Given the description of an element on the screen output the (x, y) to click on. 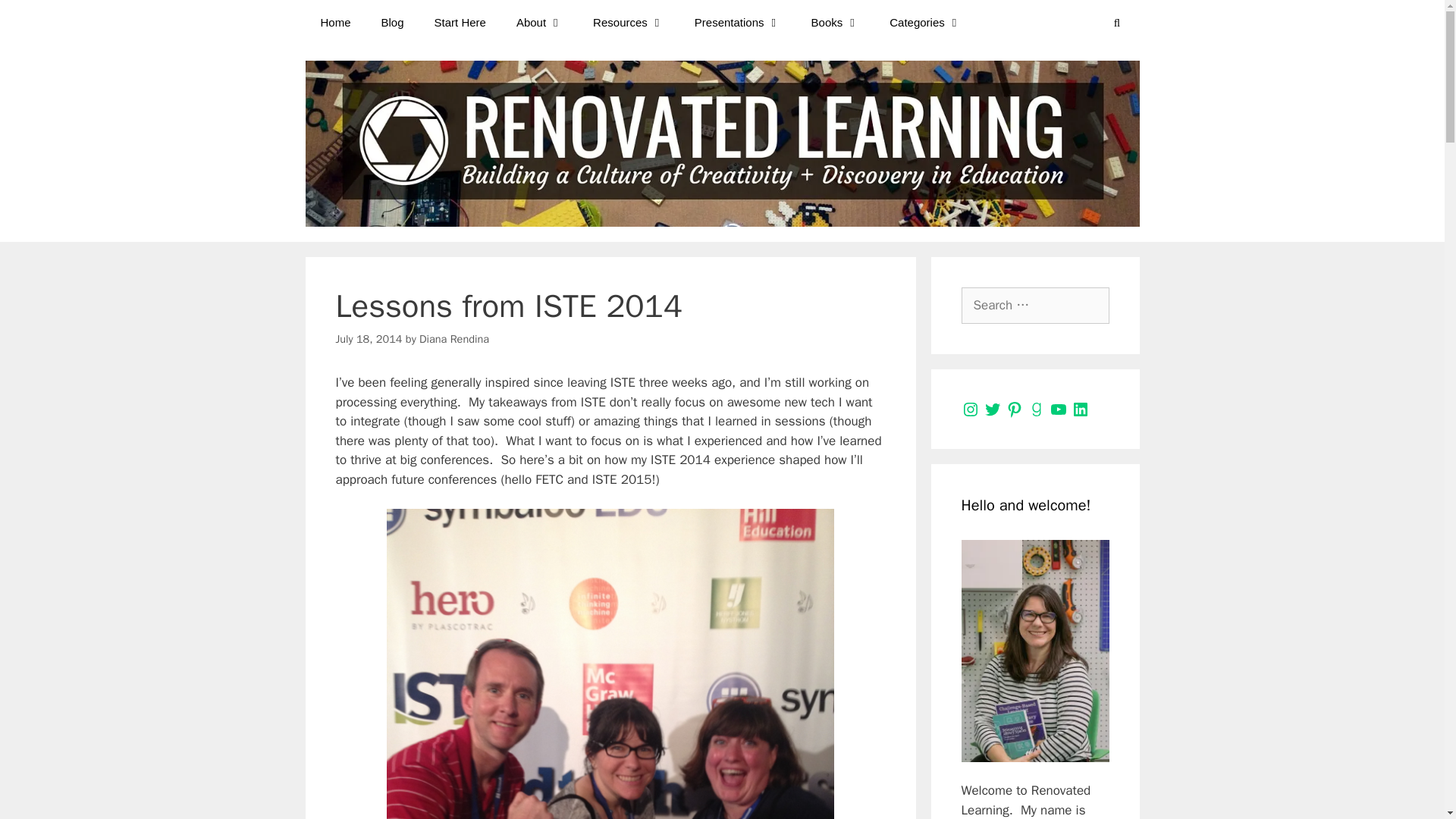
Home (334, 22)
About (539, 22)
Presentations (737, 22)
Start Here (459, 22)
View all posts by Diana Rendina (454, 338)
Blog (392, 22)
Resources (628, 22)
